Given the description of an element on the screen output the (x, y) to click on. 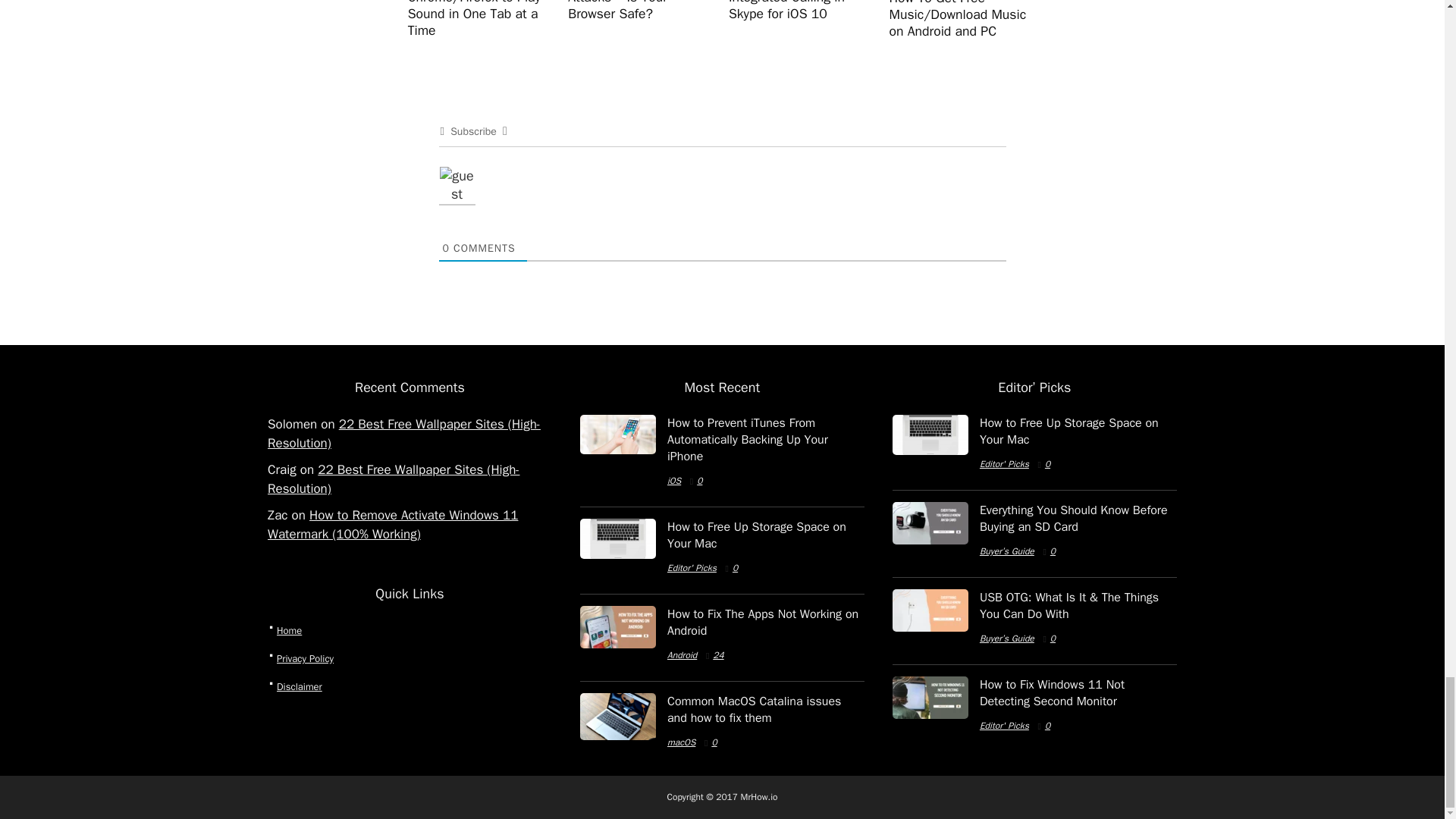
How to Turn Off Integrated Calling in Skype for iOS 10 (786, 11)
